Given the description of an element on the screen output the (x, y) to click on. 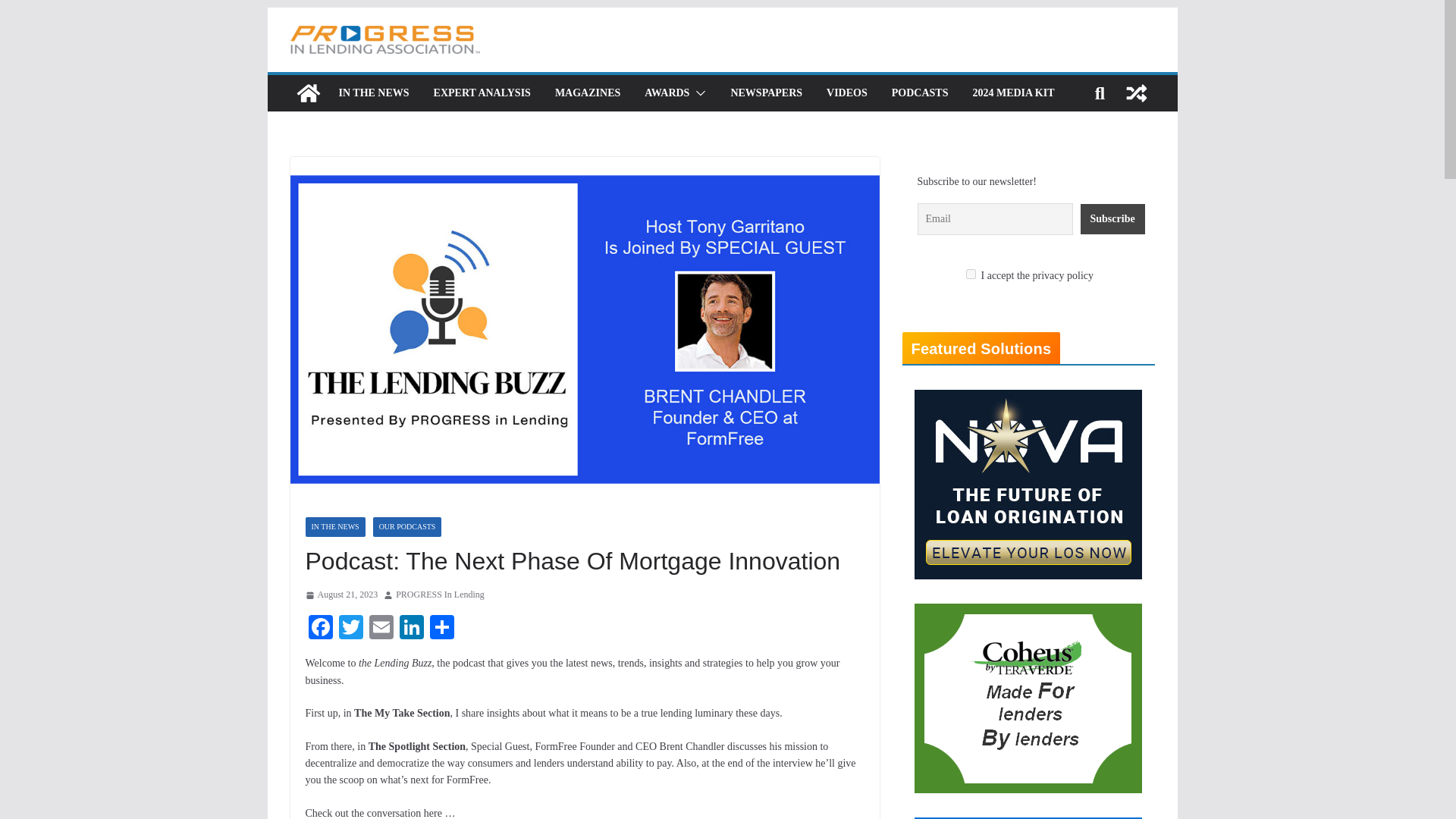
Twitter (349, 628)
Share (441, 628)
PROGRESS In Lending (440, 595)
IN THE NEWS (334, 526)
Facebook (319, 628)
MAGAZINES (587, 93)
LinkedIn (411, 628)
Twitter (349, 628)
View a random post (1136, 93)
PROGRESS in Lending (307, 93)
AWARDS (666, 93)
Subscribe (1112, 218)
IN THE NEWS (373, 93)
OUR PODCASTS (407, 526)
EXPERT ANALYSIS (482, 93)
